Given the description of an element on the screen output the (x, y) to click on. 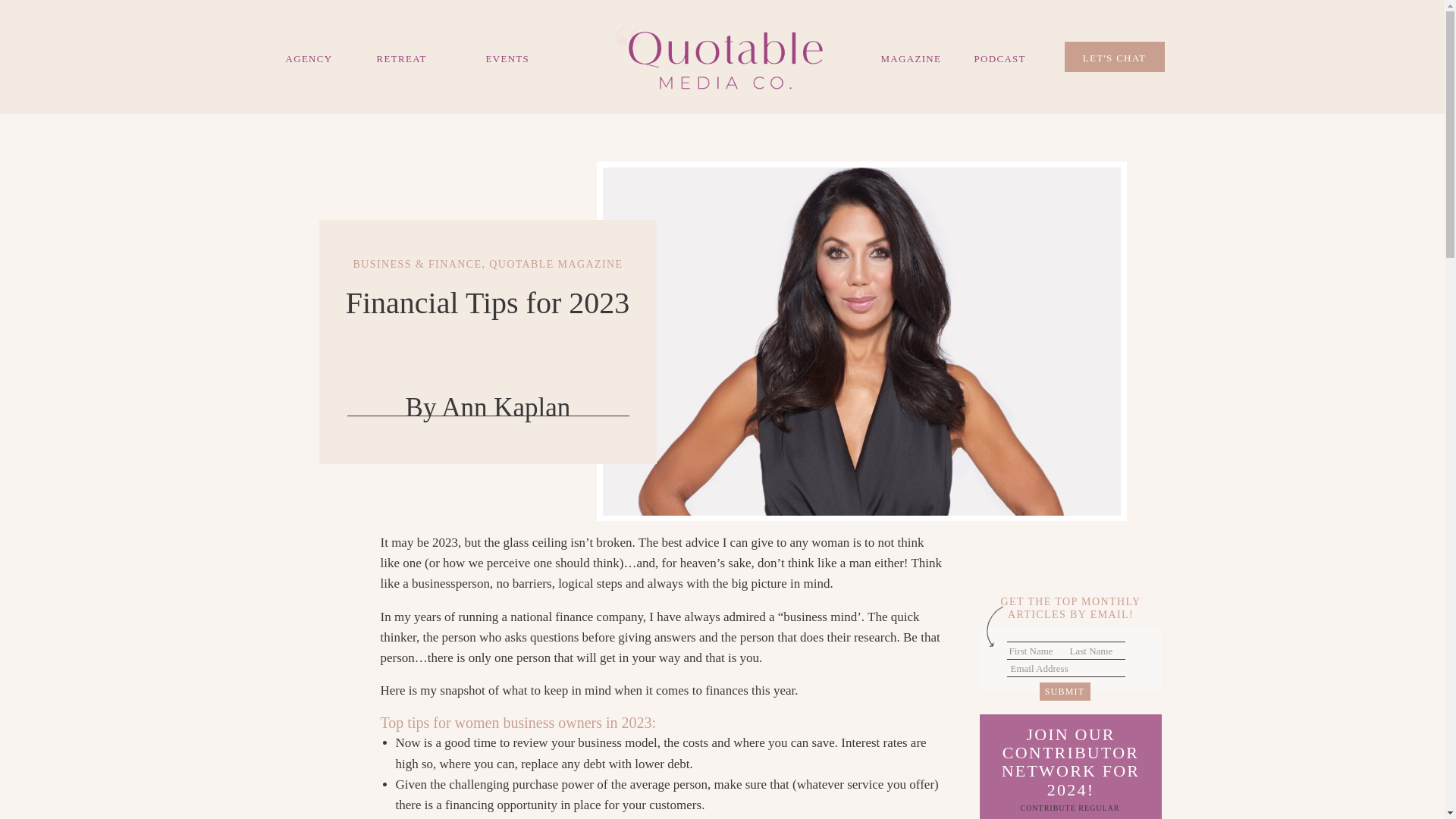
PODCAST (1003, 56)
AGENCY (307, 56)
RETREAT (409, 57)
MAGAZINE (913, 56)
LET'S CHAT (1114, 56)
EVENTS (534, 56)
JOIN OUR CONTRIBUTOR NETWORK FOR 2024! (1070, 763)
QUOTABLE MAGAZINE (556, 264)
By Ann Kaplan (488, 407)
SUBMIT (1064, 692)
